Given the description of an element on the screen output the (x, y) to click on. 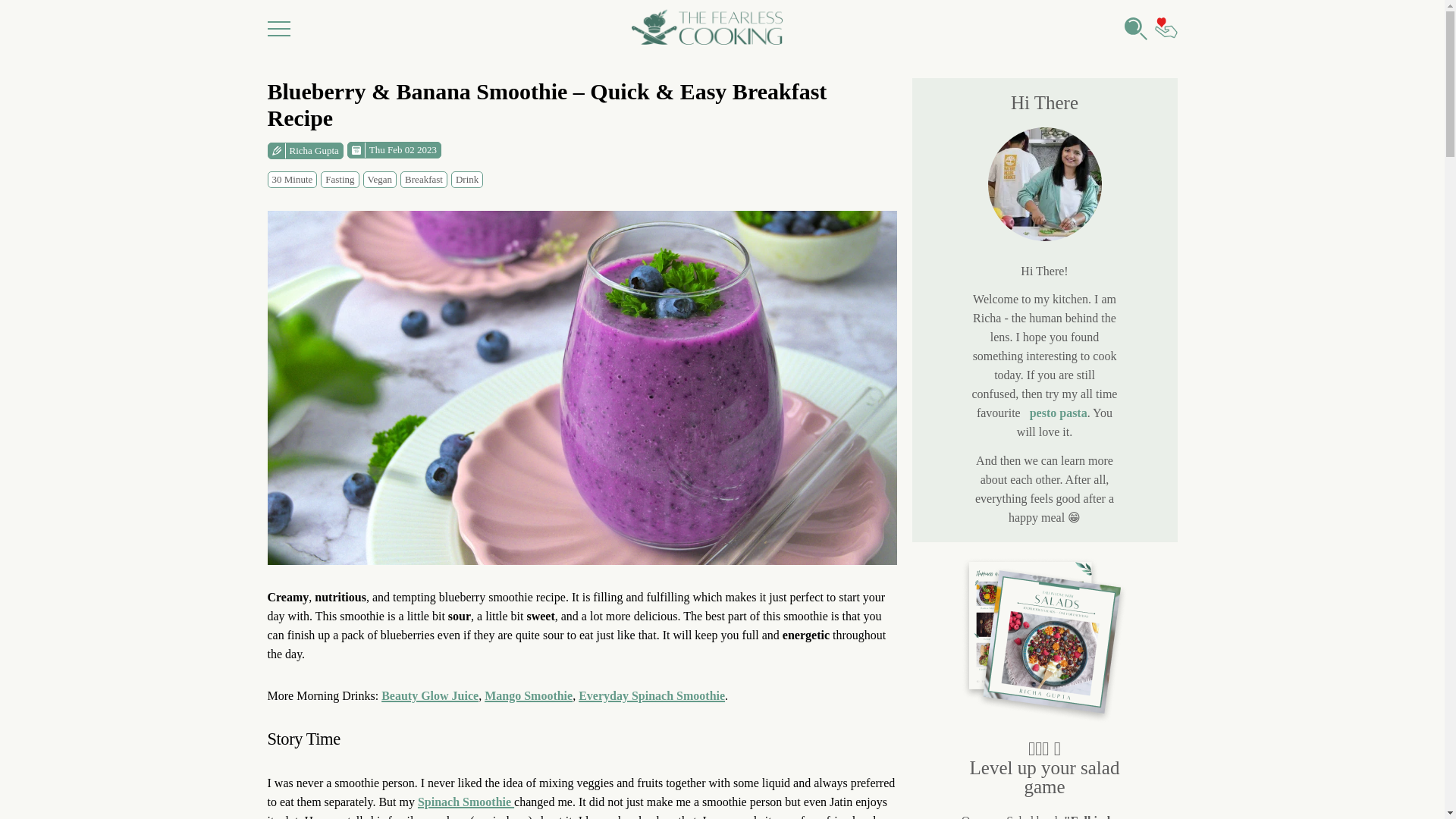
Richa Gupta (304, 149)
Fasting (339, 178)
Spinach Smoothie (465, 801)
Drink (467, 178)
Beauty Glow Juice (430, 695)
pesto pasta (1058, 412)
30 Minute (291, 178)
Vegan (379, 178)
Everyday Spinach Smoothie (651, 695)
Mango Smoothie (528, 695)
Breakfast (423, 178)
